Given the description of an element on the screen output the (x, y) to click on. 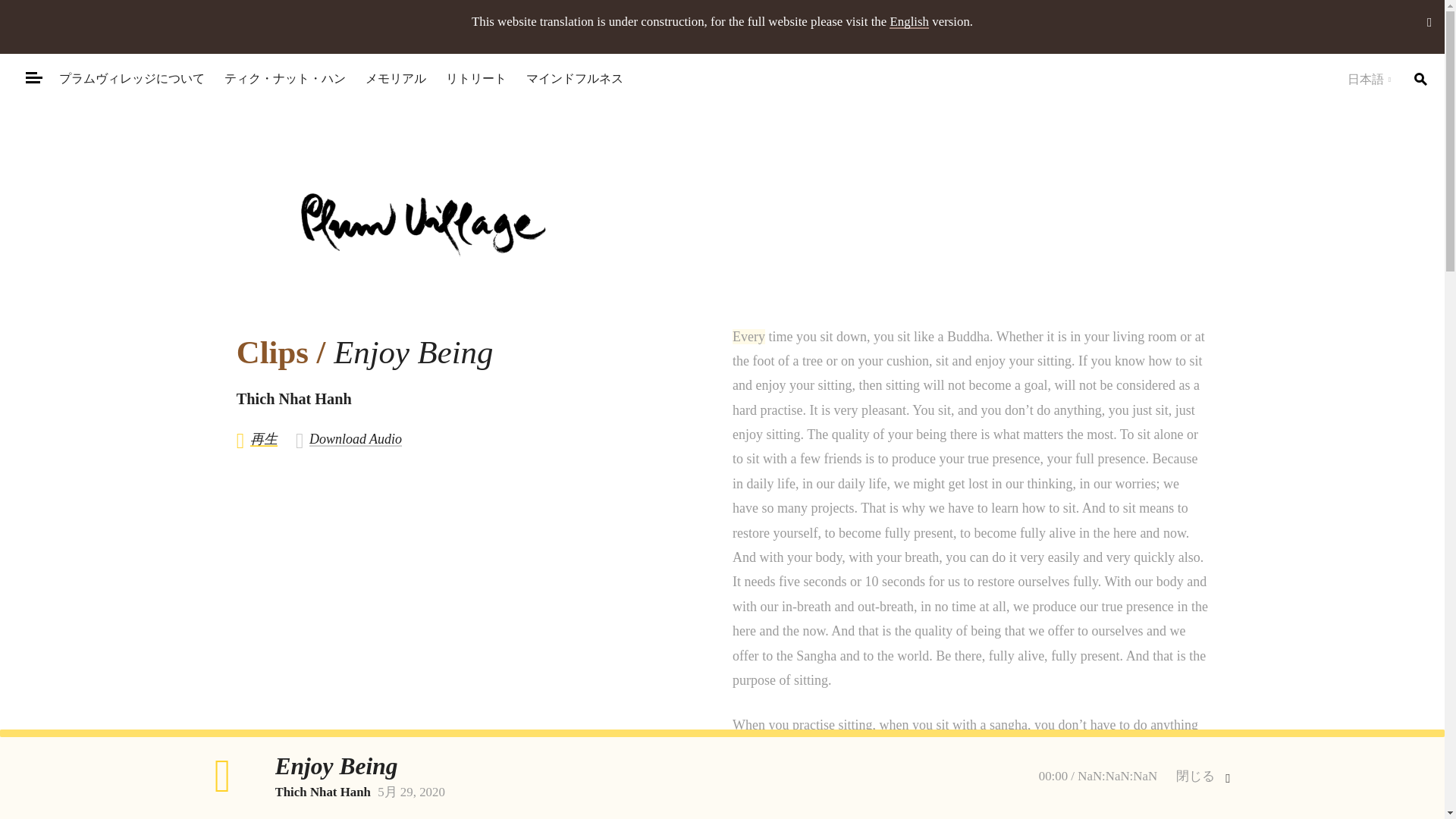
search (1419, 78)
